Given the description of an element on the screen output the (x, y) to click on. 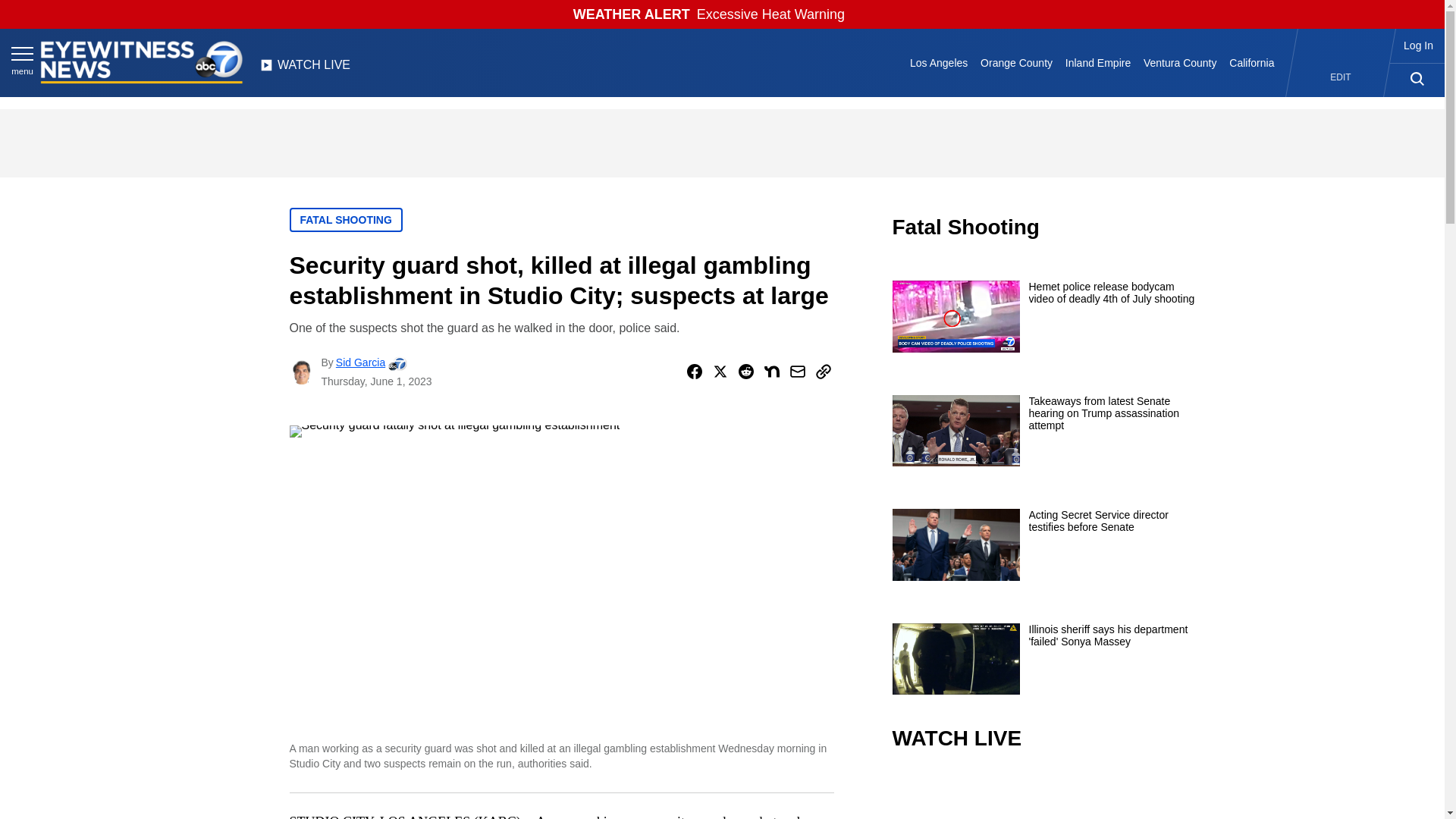
WATCH LIVE (305, 69)
Inland Empire (1097, 62)
California (1252, 62)
EDIT (1340, 77)
Los Angeles (939, 62)
Ventura County (1180, 62)
video.title (1043, 796)
Orange County (1016, 62)
